Given the description of an element on the screen output the (x, y) to click on. 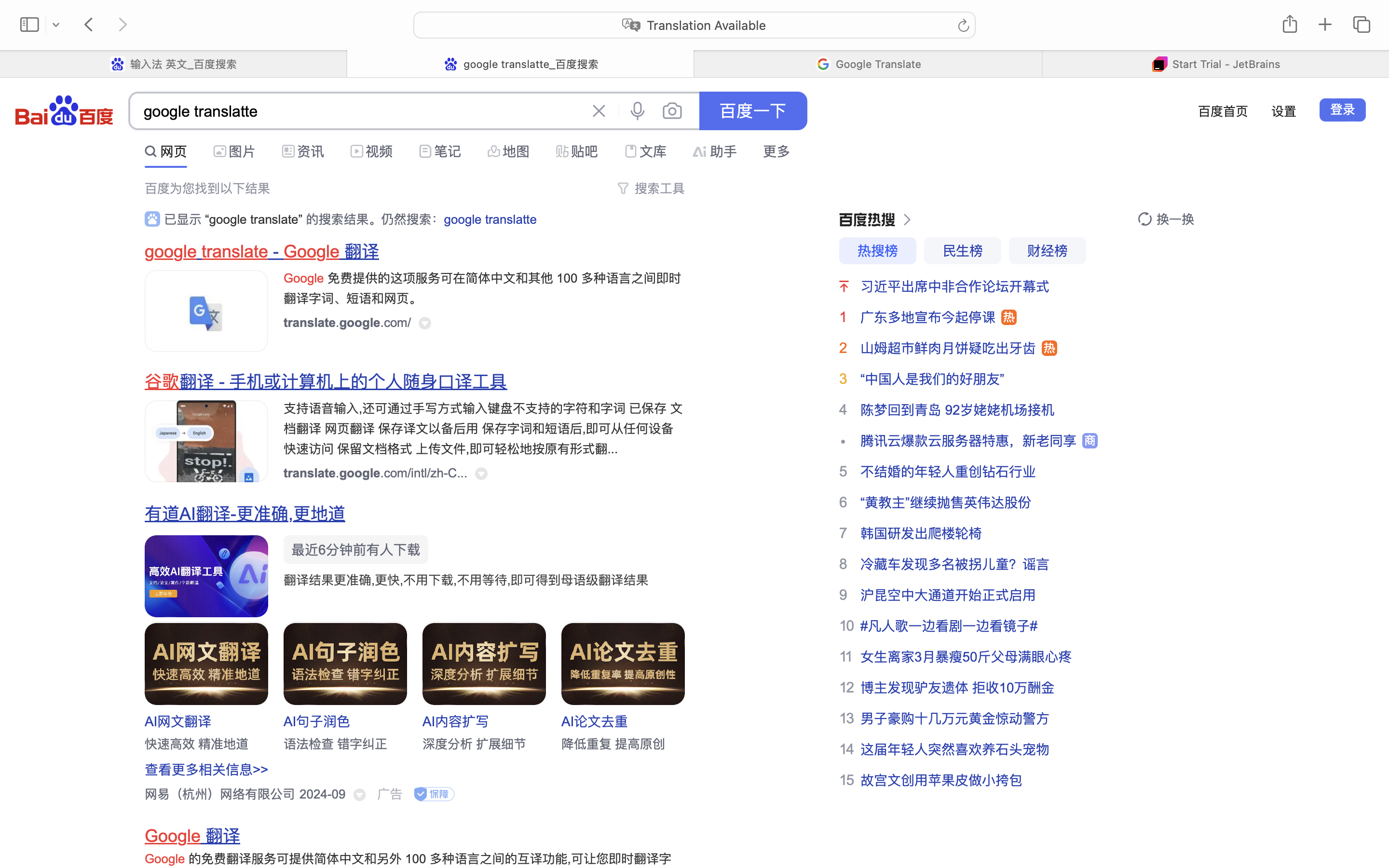
translate Element type: AXStaticText (235, 251)
“黄教主”继续抛售英伟达股份 Element type: AXStaticText (946, 502)
15 Element type: AXStaticText (846, 779)
#凡人歌一边看剧一边看镜子# Element type: AXStaticText (948, 625)
百度首页 Element type: AXStaticText (1223, 111)
